Given the description of an element on the screen output the (x, y) to click on. 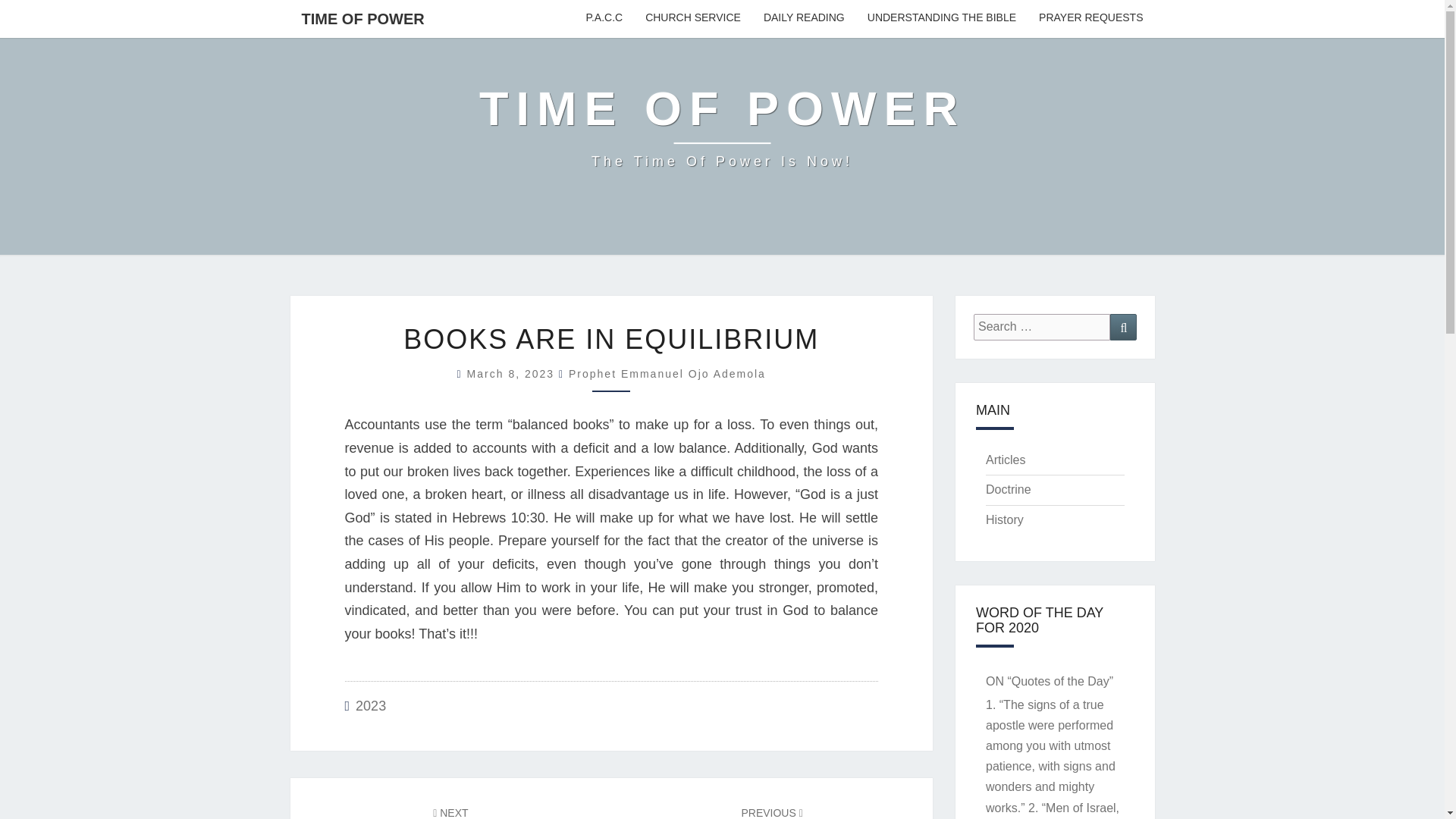
Prophet Emmanuel Ojo Ademola (771, 811)
TIME OF POWER (667, 373)
PRAYER REQUESTS (362, 18)
Articles (1090, 18)
12:12 am (1005, 459)
CHURCH SERVICE (513, 373)
Search (692, 18)
History (1123, 326)
Doctrine (1004, 519)
